Given the description of an element on the screen output the (x, y) to click on. 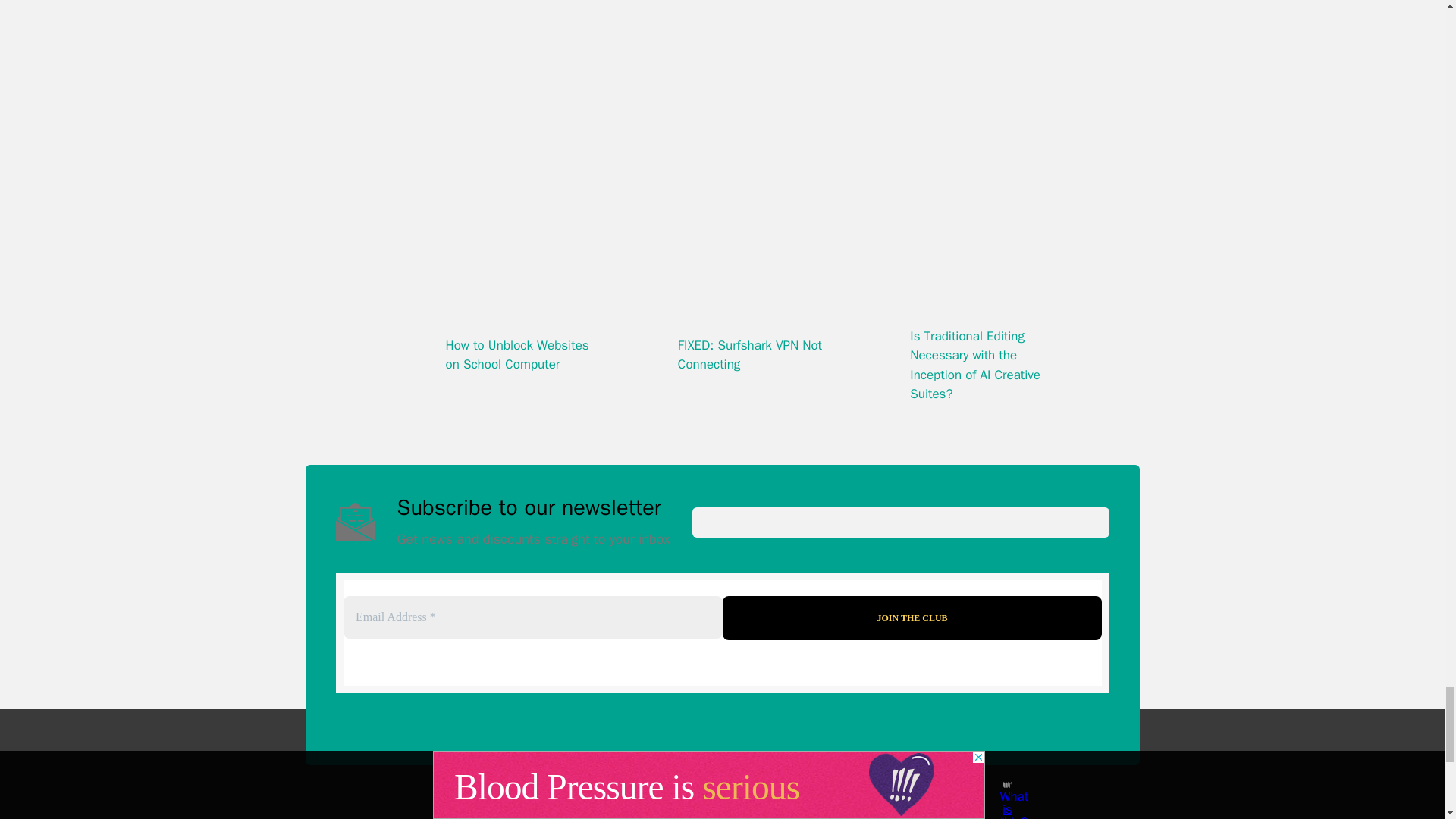
JOIN THE CLUB (911, 617)
Email Address (532, 617)
